Given the description of an element on the screen output the (x, y) to click on. 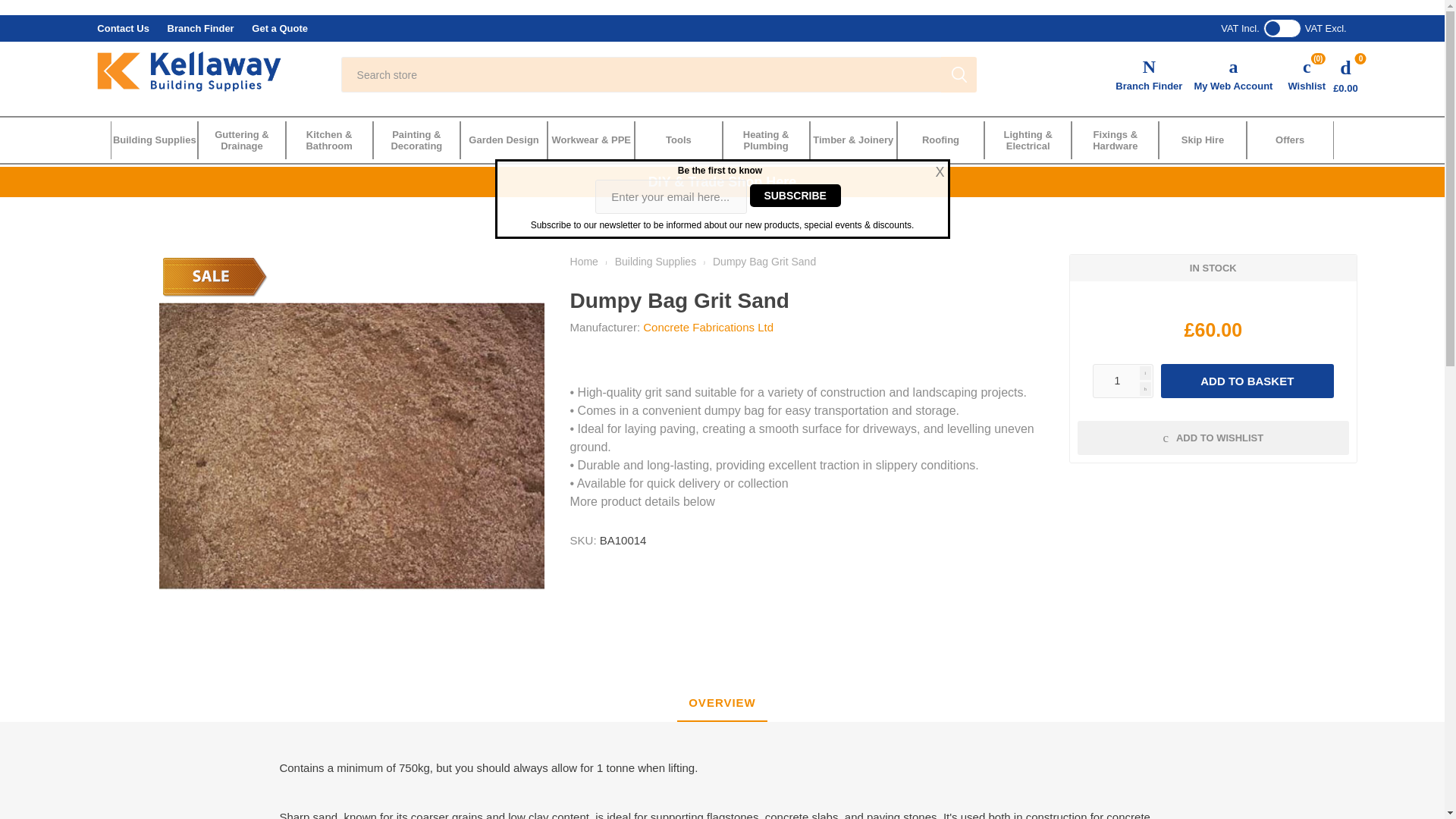
Tools (678, 139)
Contact Us (123, 28)
Roofing (940, 139)
Garden Design (503, 139)
Add to basket (1246, 380)
Garden Design (503, 139)
Customer reviews powered by Trustpilot (1088, 28)
My Web Account (1232, 66)
Kellaway Building Supplies (188, 71)
Search (958, 74)
Contact Us (123, 28)
Branch Finder (200, 28)
Tools (678, 139)
Get a Quote (279, 28)
Building Supplies (154, 139)
